Given the description of an element on the screen output the (x, y) to click on. 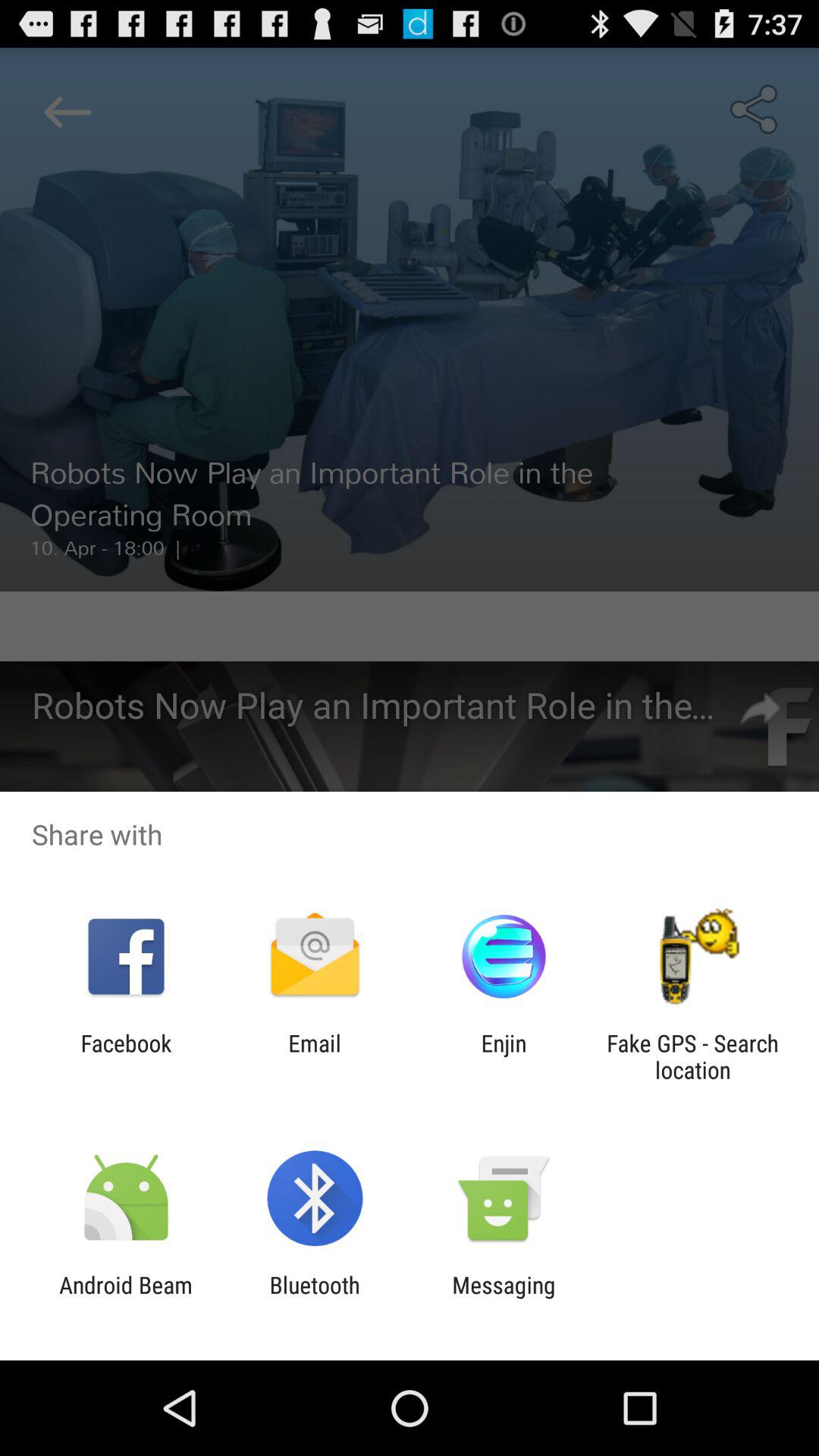
click the item to the right of enjin (692, 1056)
